Given the description of an element on the screen output the (x, y) to click on. 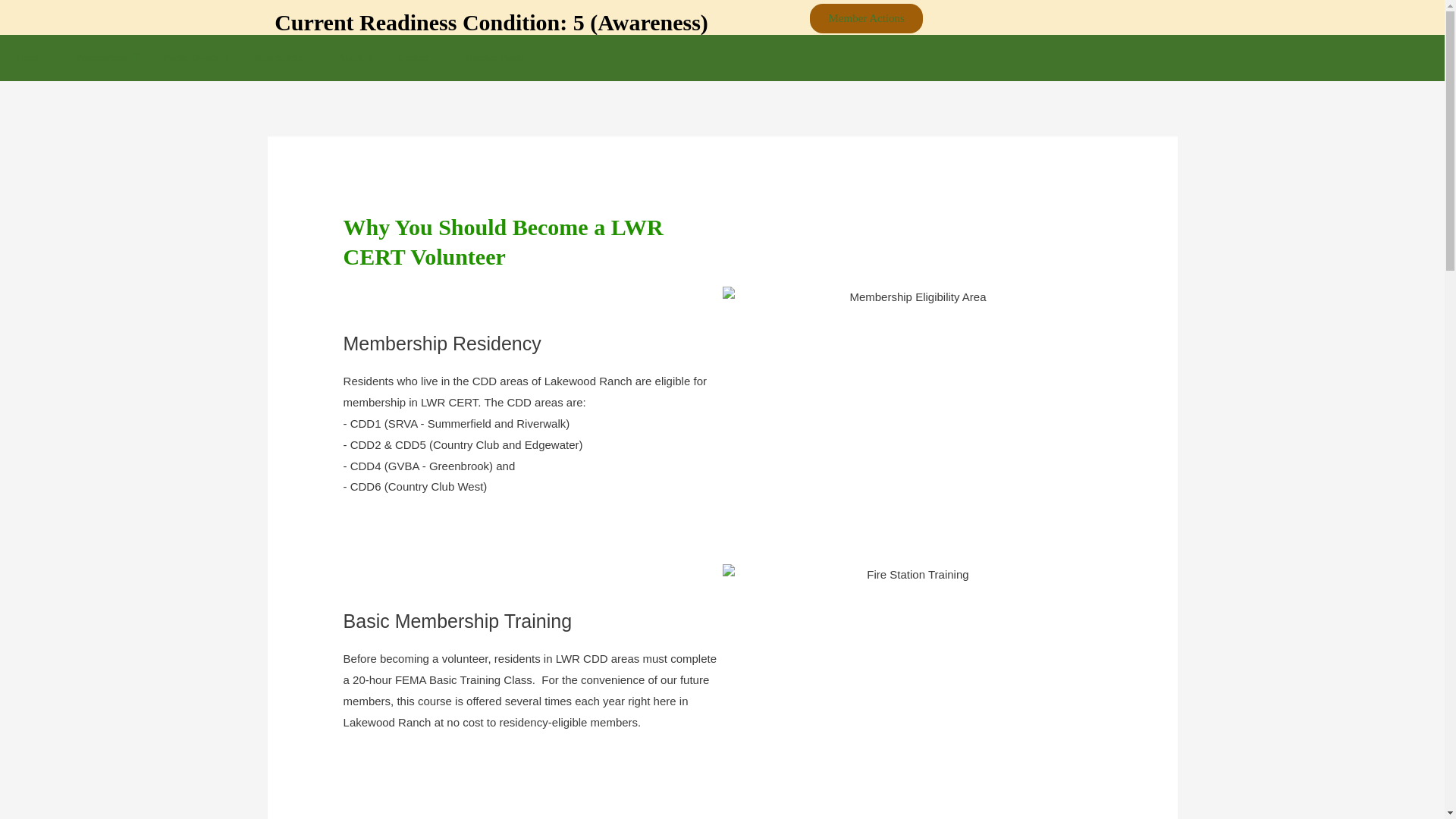
About (351, 58)
Member Actions (865, 18)
How to Join (279, 58)
Member Portal (495, 58)
Public Events (192, 58)
Preparedness (103, 58)
Home (29, 58)
Contact (413, 58)
